Given the description of an element on the screen output the (x, y) to click on. 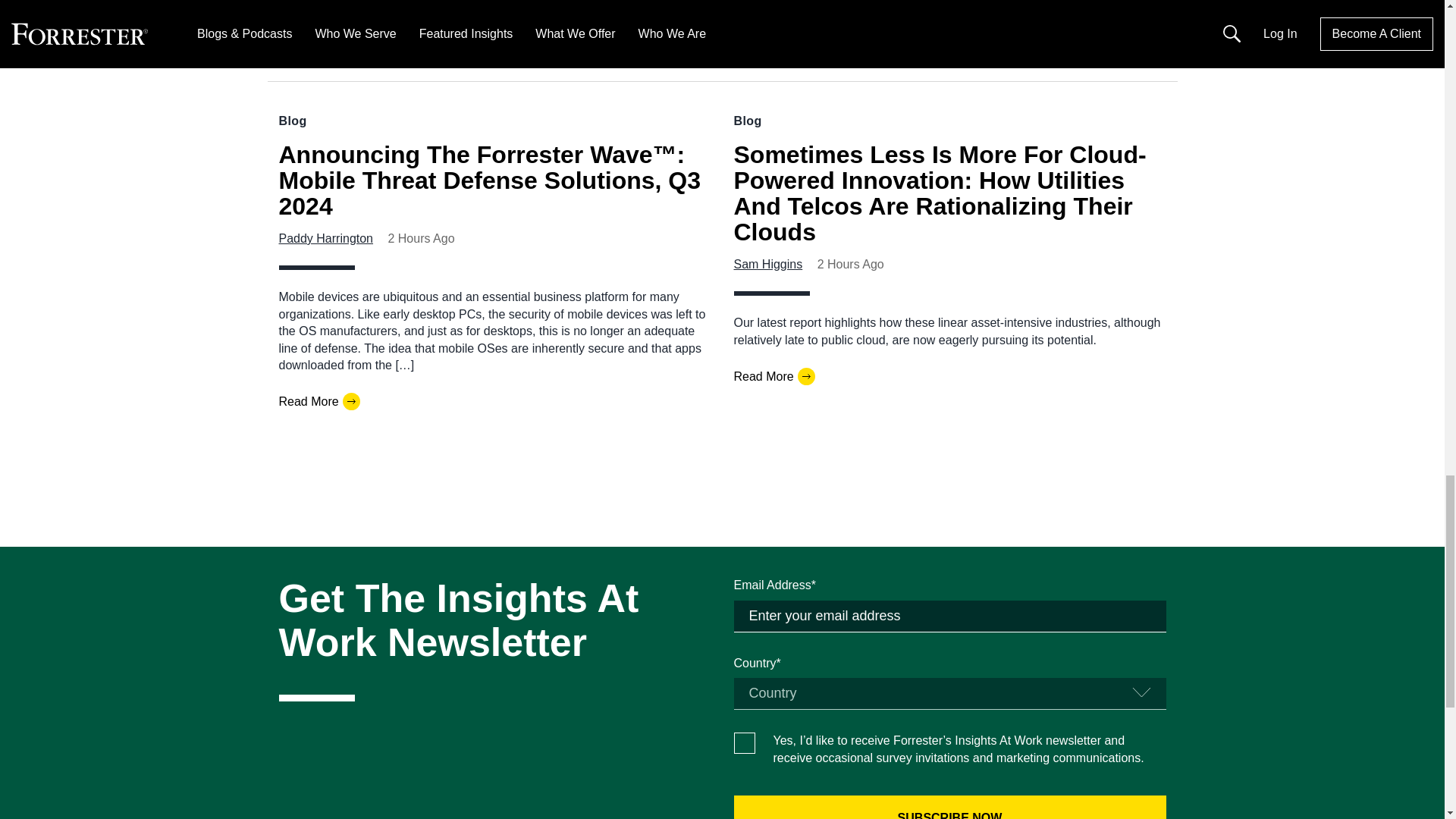
Paddy Harrington (326, 237)
Sam Higgins (768, 264)
Subscribe Now (949, 807)
